Given the description of an element on the screen output the (x, y) to click on. 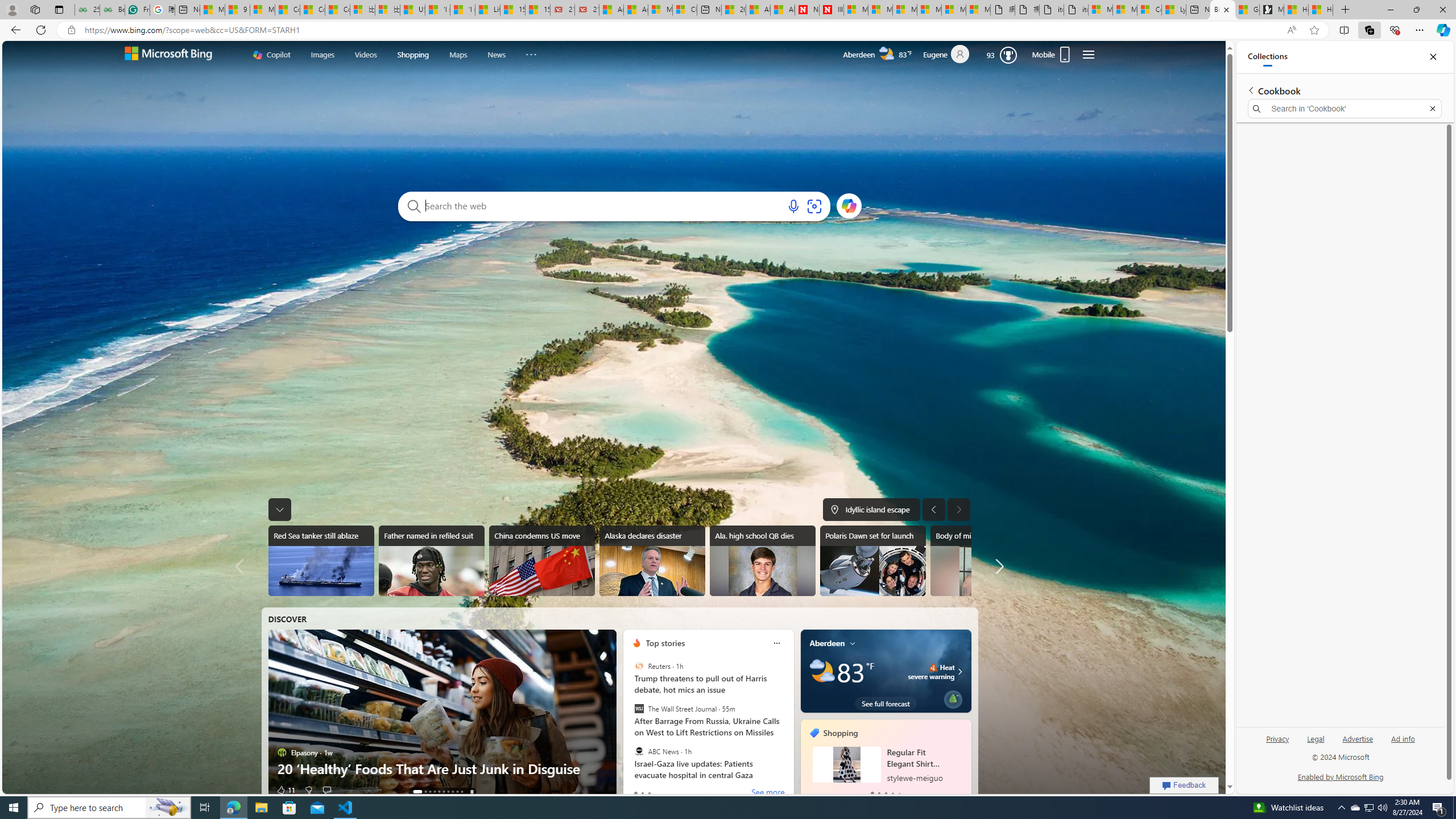
Learn more (848, 205)
AutomationID: tab-3 (434, 791)
AutomationID: tab-8 (457, 791)
Top stories (665, 643)
How to Use a TV as a Computer Monitor (1320, 9)
Settings and quick links (1087, 54)
Free AI Writing Assistance for Students | Grammarly (136, 9)
Copilot (272, 54)
Ala. high school QB dies (762, 560)
itconcepthk.com/projector_solutions.mp4 (1075, 9)
